Given the description of an element on the screen output the (x, y) to click on. 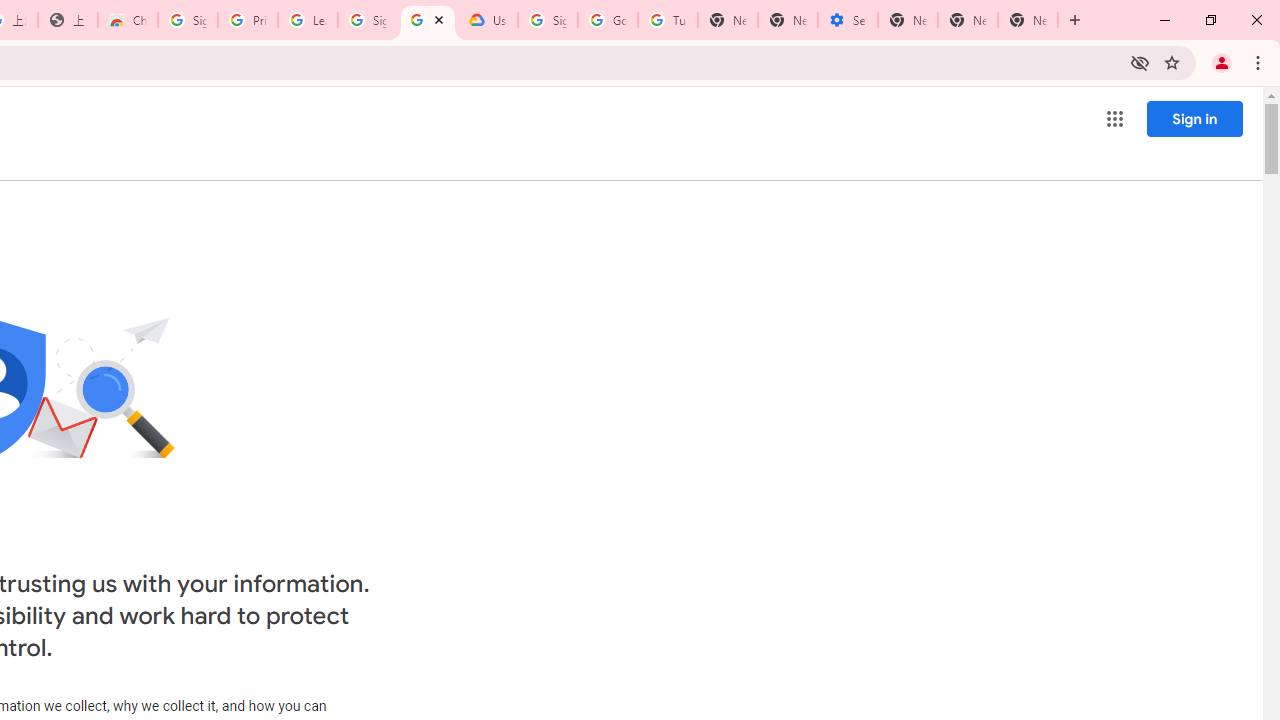
Sign in - Google Accounts (367, 20)
Chrome Web Store - Color themes by Chrome (127, 20)
Sign in - Google Accounts (548, 20)
Settings - Addresses and more (847, 20)
Google Account Help (607, 20)
New Tab (908, 20)
Turn cookies on or off - Computer - Google Account Help (667, 20)
